Given the description of an element on the screen output the (x, y) to click on. 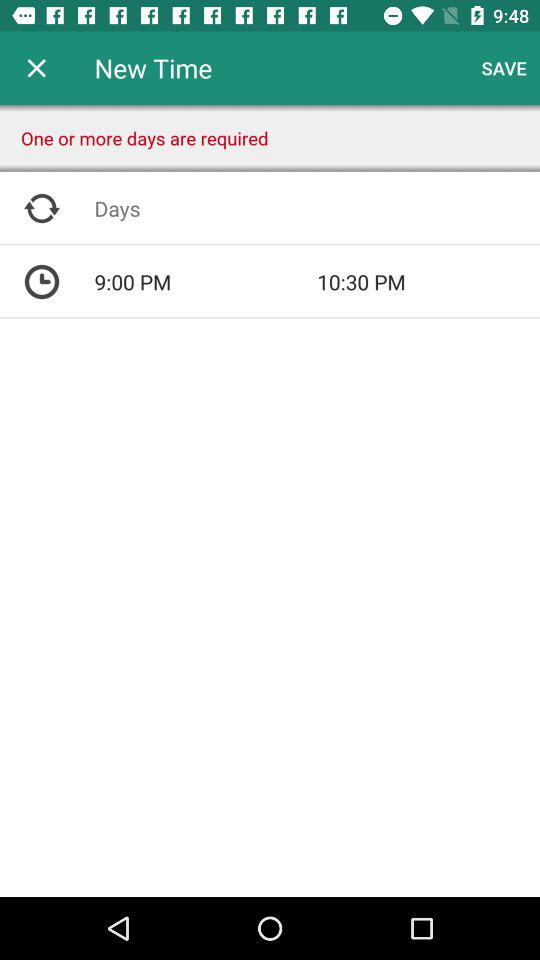
open item to the right of the new time icon (504, 68)
